Given the description of an element on the screen output the (x, y) to click on. 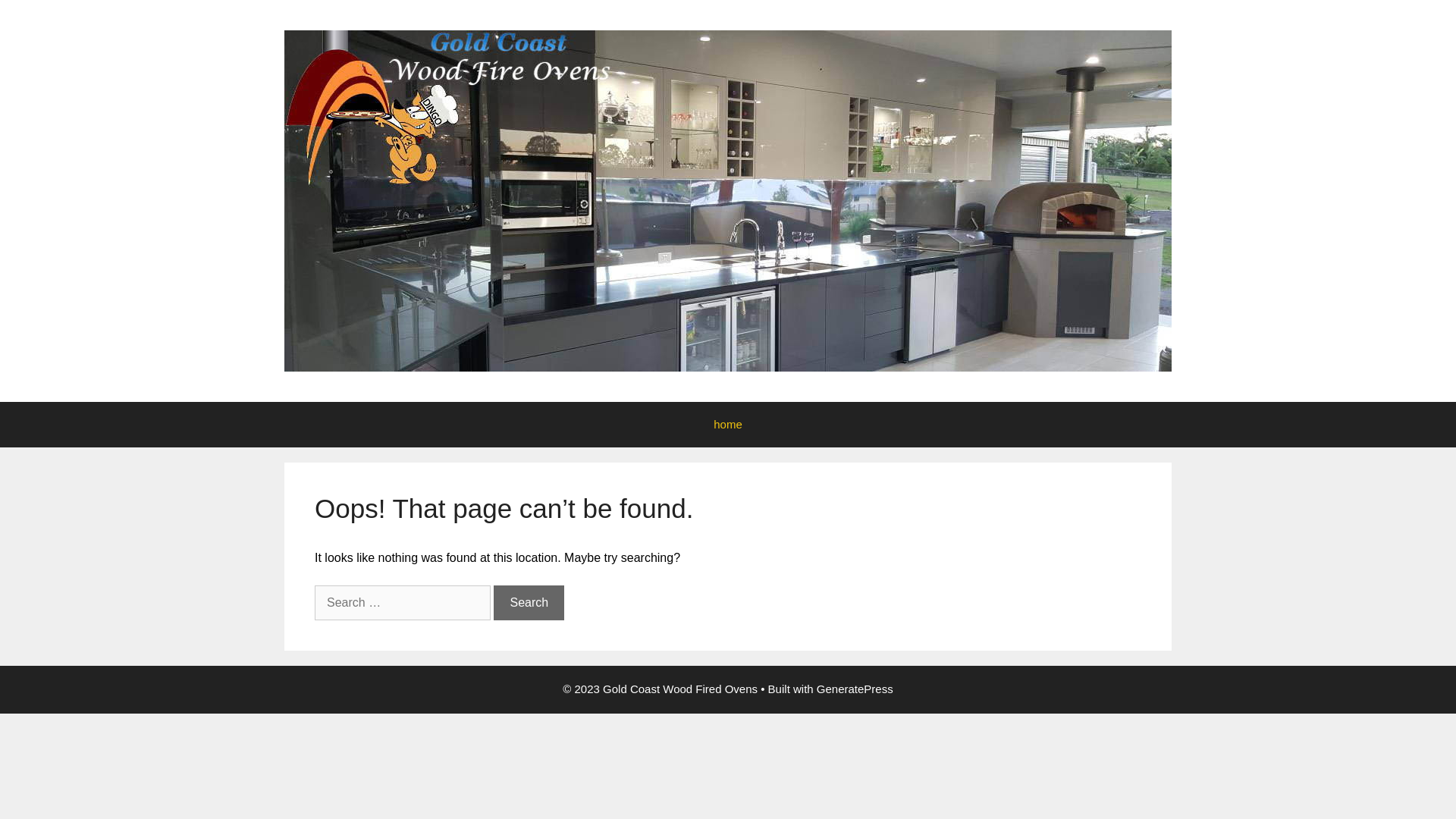
Search for: Element type: hover (402, 602)
home Element type: text (727, 424)
Search Element type: text (528, 602)
GeneratePress Element type: text (854, 688)
